Given the description of an element on the screen output the (x, y) to click on. 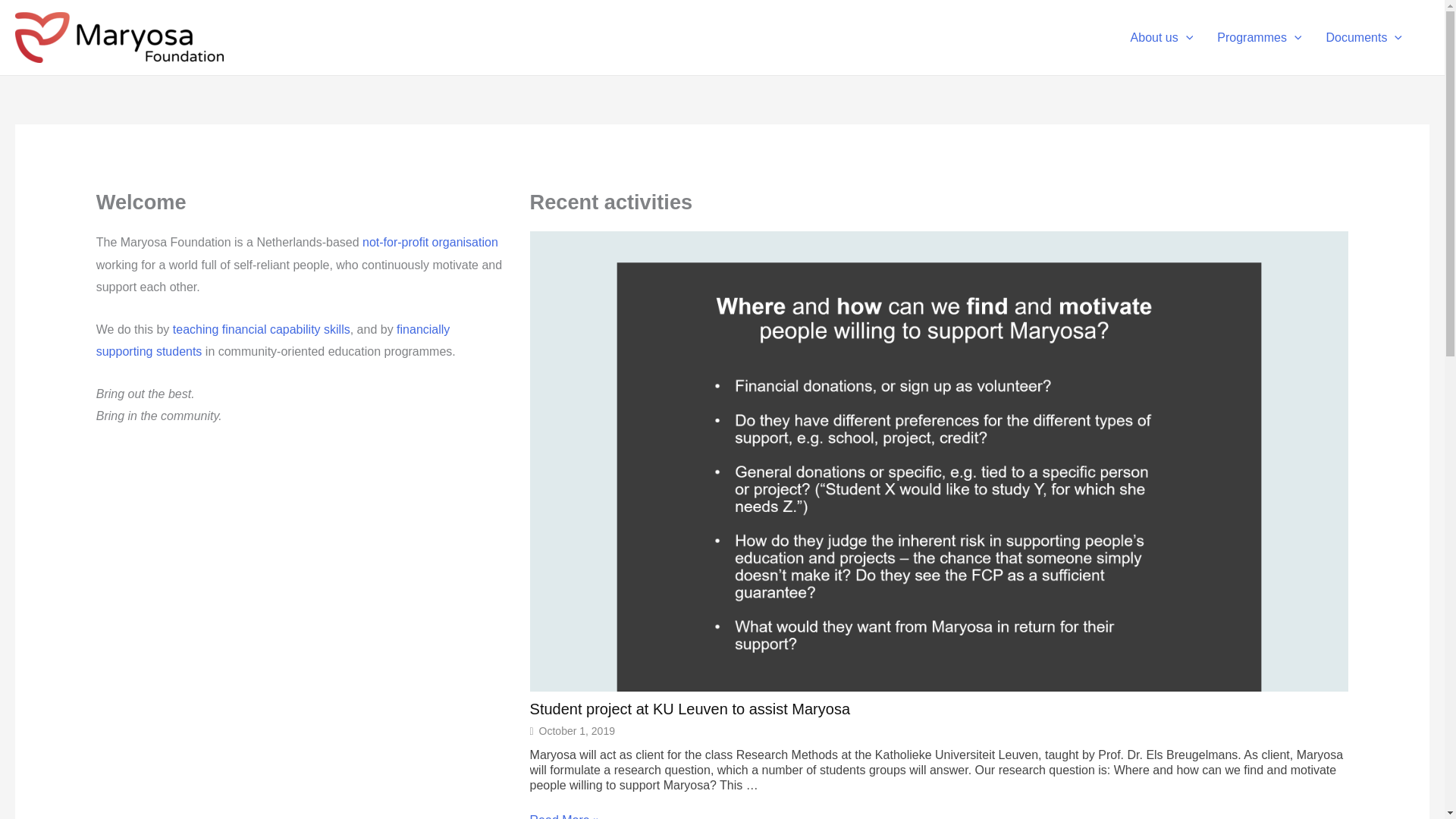
teaching financial capability skills (261, 328)
not-for-profit organisation (429, 241)
Programmes (1259, 36)
financially supporting students (272, 340)
Student project at KU Leuven to assist Maryosa (939, 709)
About us (1161, 36)
Documents (1363, 36)
